Given the description of an element on the screen output the (x, y) to click on. 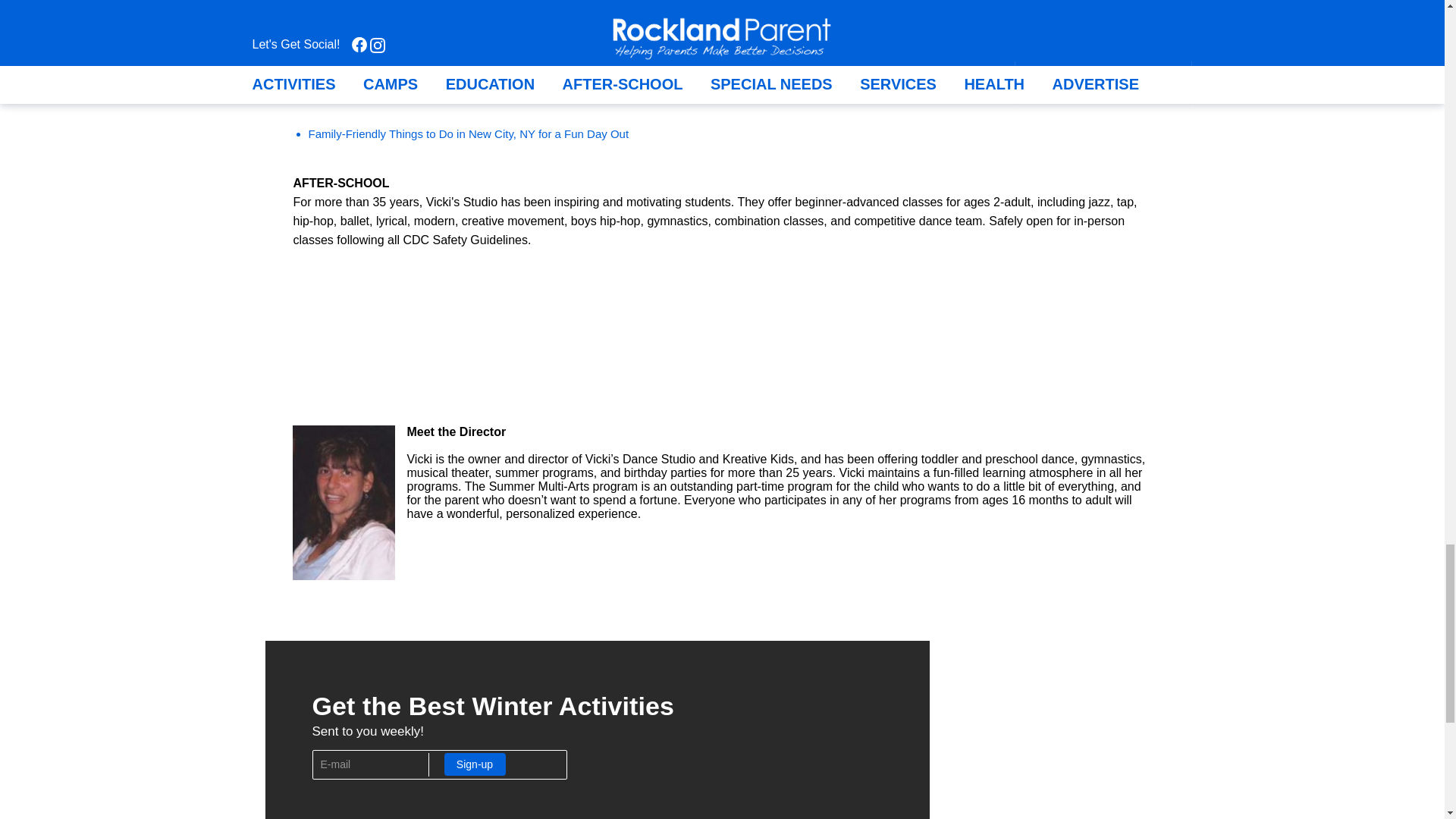
Education (332, 3)
Sign-up (474, 763)
Summer Camp (345, 32)
